Given the description of an element on the screen output the (x, y) to click on. 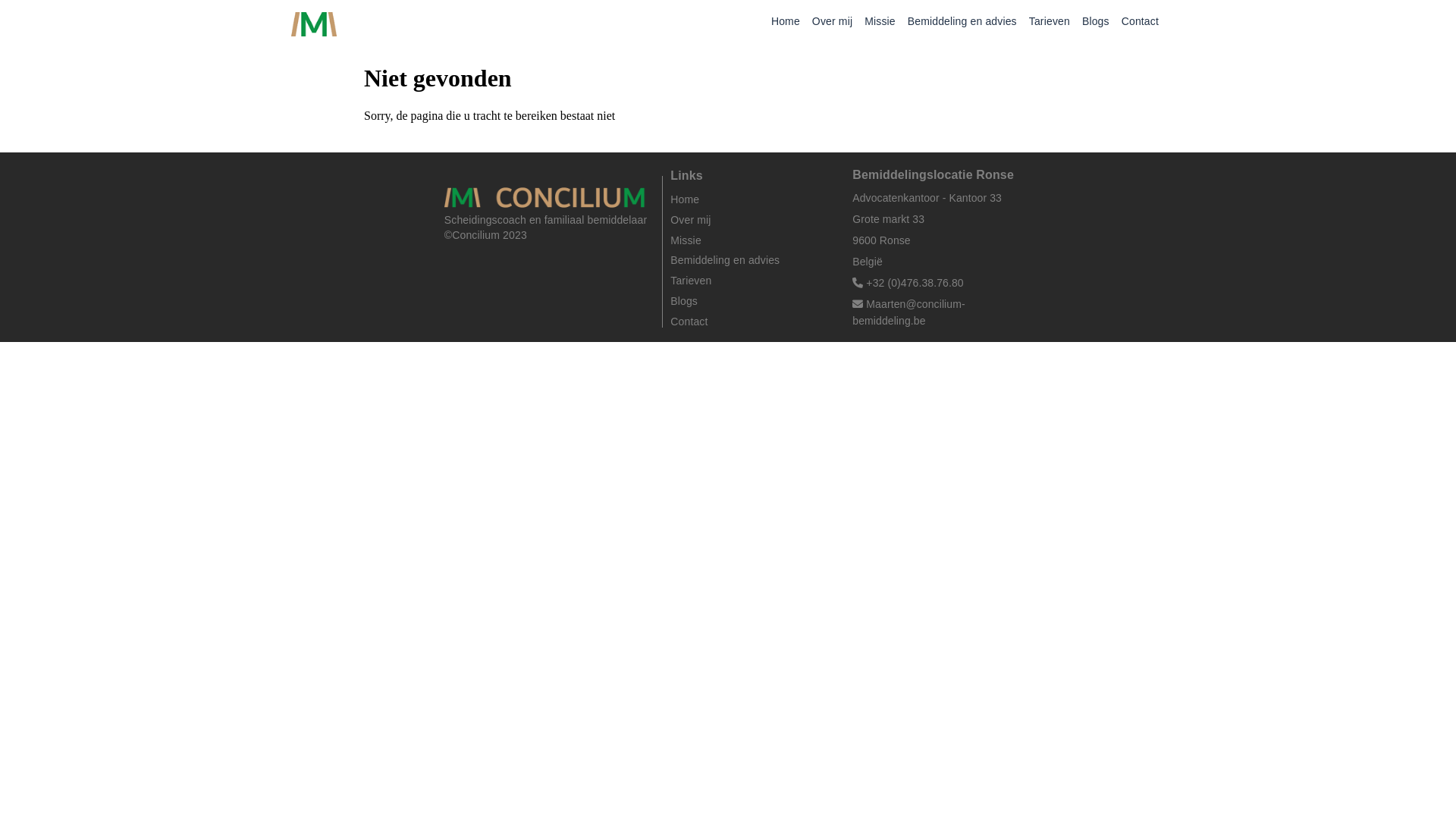
Tarieven Element type: text (1049, 23)
Missie Element type: text (879, 23)
Contact Element type: text (1139, 23)
Bemiddeling en advies Element type: text (961, 23)
Tarieven Element type: text (753, 280)
Blogs Element type: text (1095, 23)
Over mij Element type: text (753, 219)
Bemiddeling en advies Element type: text (753, 259)
Blogs Element type: text (753, 300)
+32 (0)476.38.76.80 Element type: text (909, 282)
Over mij Element type: text (832, 23)
Missie Element type: text (753, 239)
Contact Element type: text (753, 321)
Maarten@concilium-bemiddeling.be Element type: text (908, 312)
Home Element type: text (753, 199)
Home Element type: text (785, 23)
